Given the description of an element on the screen output the (x, y) to click on. 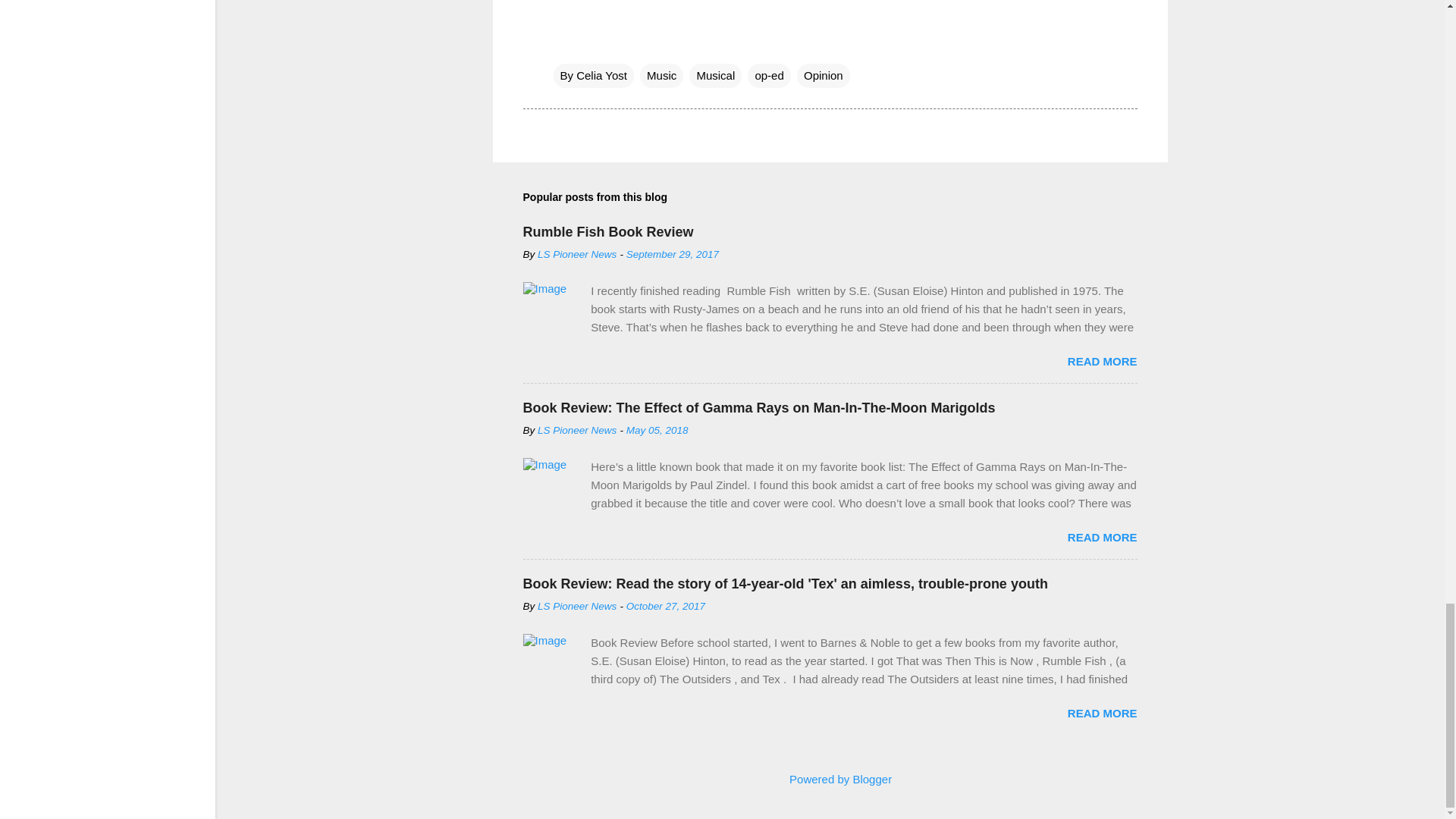
May 05, 2018 (657, 430)
September 29, 2017 (672, 254)
READ MORE (1102, 360)
Opinion (823, 74)
By Celia Yost (593, 74)
Rumble Fish Book Review (608, 231)
READ MORE (1102, 536)
LS Pioneer News (576, 254)
Music (661, 74)
October 27, 2017 (665, 605)
